Given the description of an element on the screen output the (x, y) to click on. 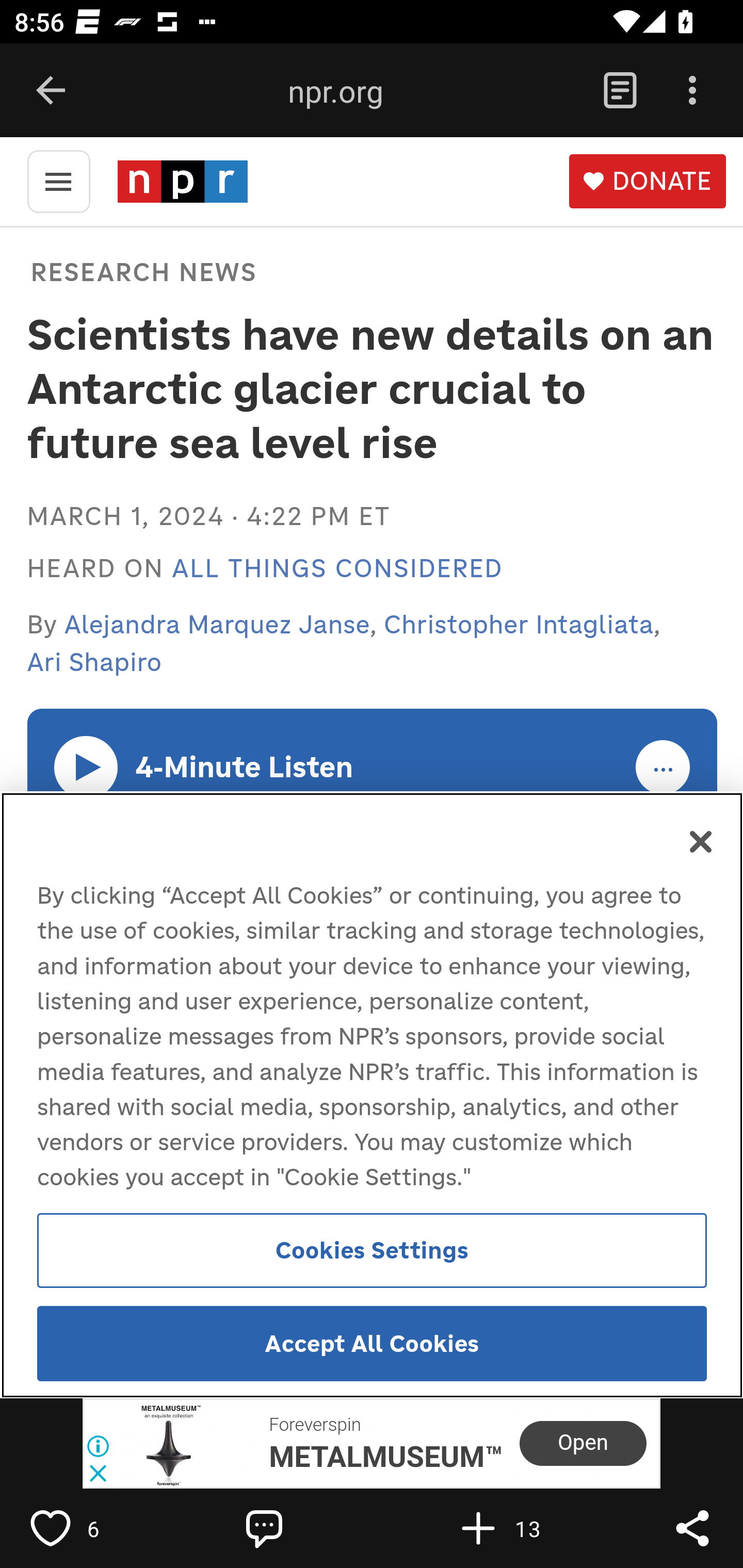
Back (50, 90)
Reader View (619, 90)
Options (692, 90)
Open Navigation Menu (58, 180)
DONATE (646, 181)
NPR logo (181, 180)
RESEARCH NEWS RESEARCH NEWS RESEARCH NEWS (141, 271)
MARCH 1, 2024 · 4:22 PM ET (208, 515)
ALL THINGS CONSIDERED (337, 568)
Alejandra Marquez Janse (217, 623)
Christopher Intagliata (518, 623)
Ari Shapiro (93, 662)
LISTEN· 4:24 (86, 766)
Toggle more options (663, 768)
Close (701, 841)
Cookies Settings (372, 1249)
Accept All Cookies (372, 1343)
foreverspin (168, 1443)
Foreverspin (315, 1424)
Open (582, 1443)
METALMUSEUM™ (385, 1455)
Like 6 (93, 1528)
Write a comment… (307, 1528)
Flip into Magazine 13 (521, 1528)
Share (692, 1528)
